Given the description of an element on the screen output the (x, y) to click on. 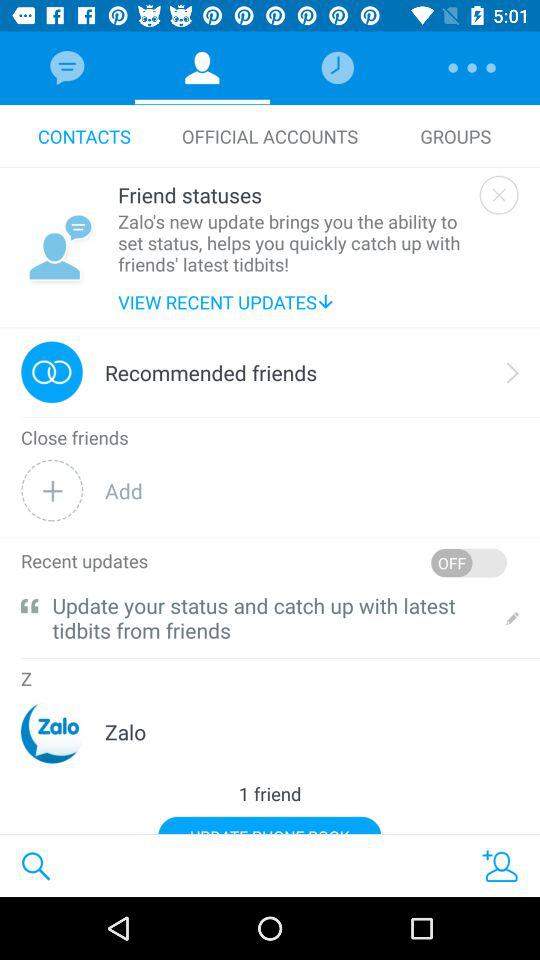
close out page (498, 194)
